Given the description of an element on the screen output the (x, y) to click on. 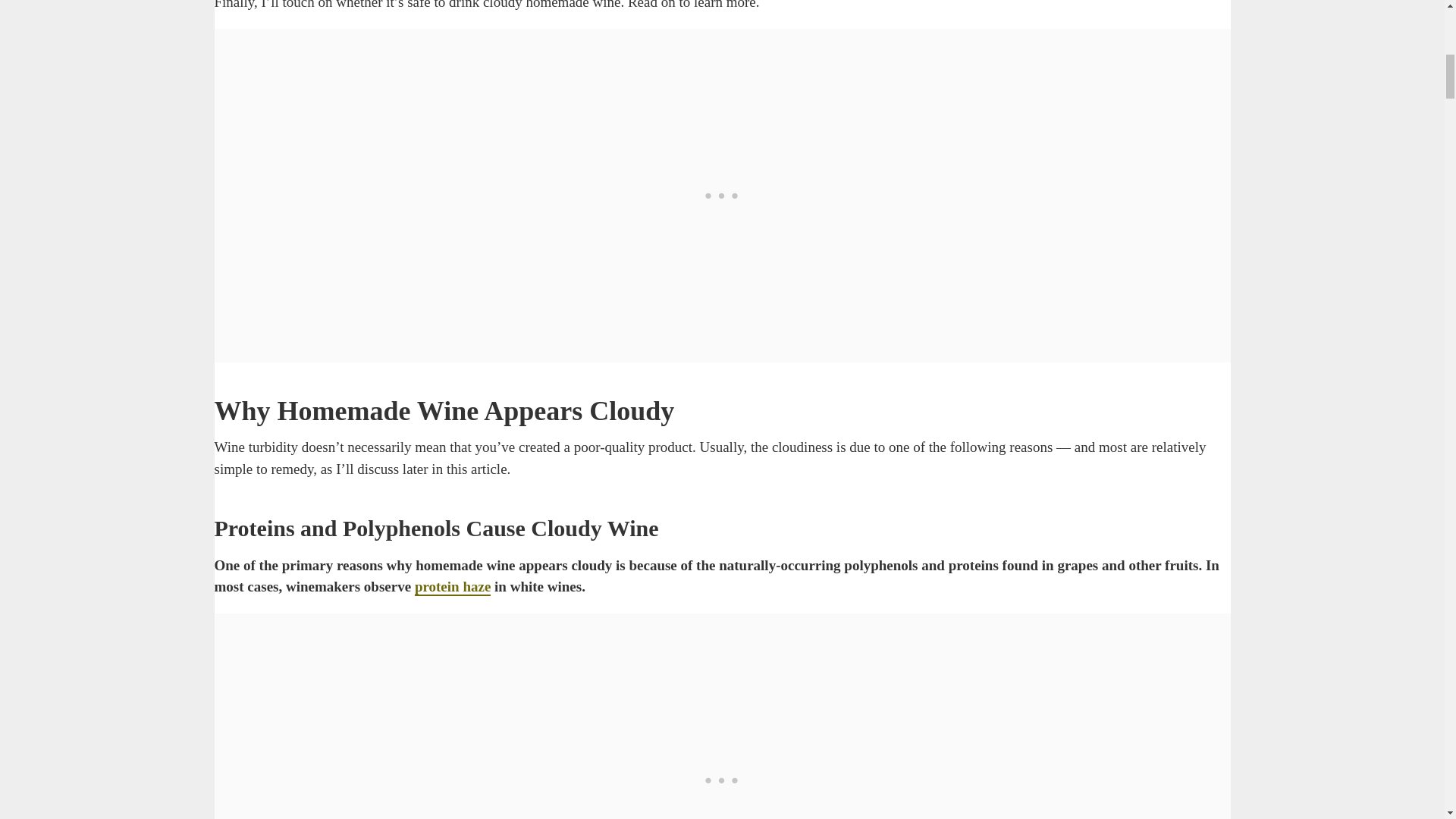
protein haze (452, 587)
